Given the description of an element on the screen output the (x, y) to click on. 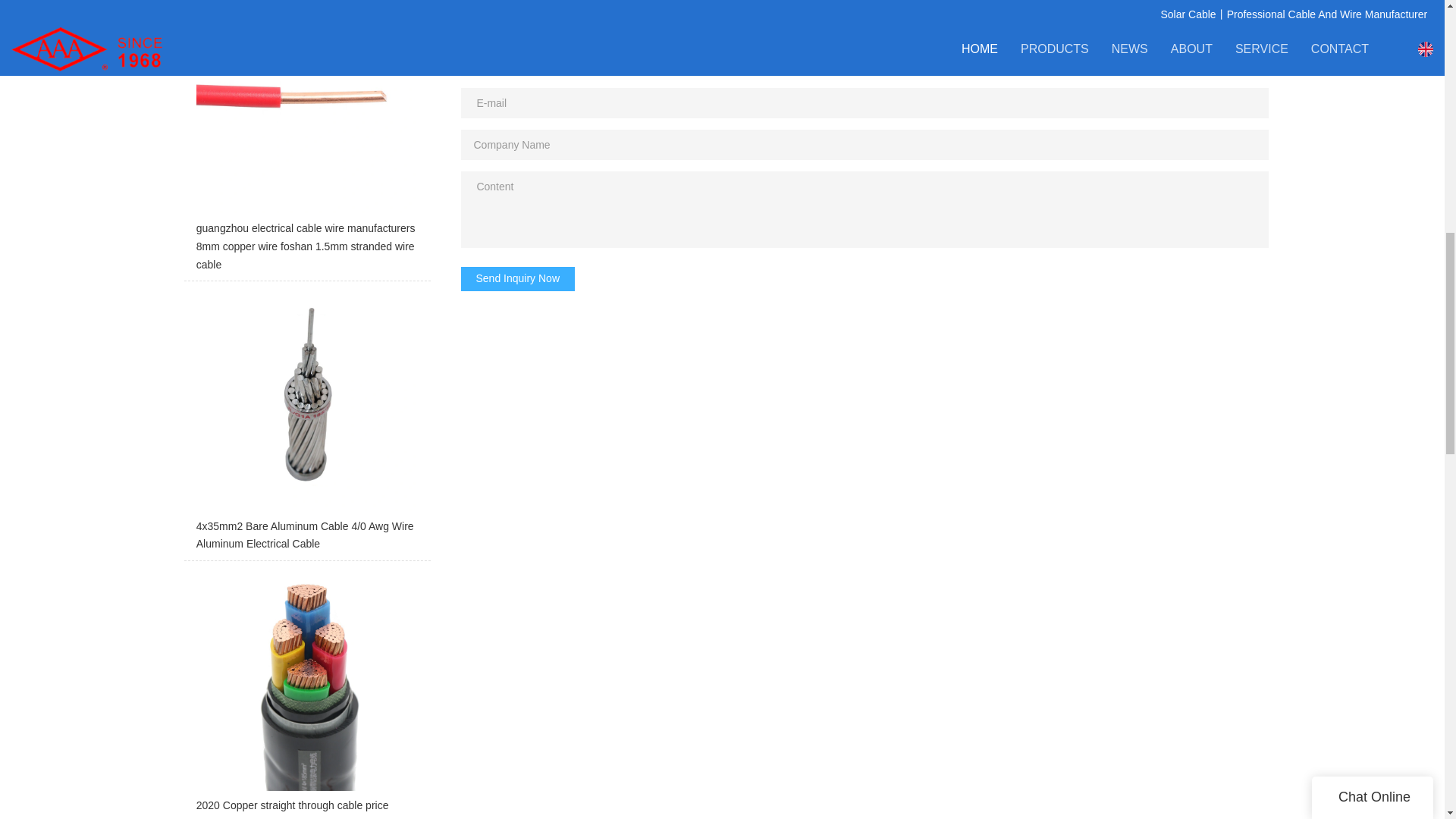
Send Inquiry Now (518, 278)
